Given the description of an element on the screen output the (x, y) to click on. 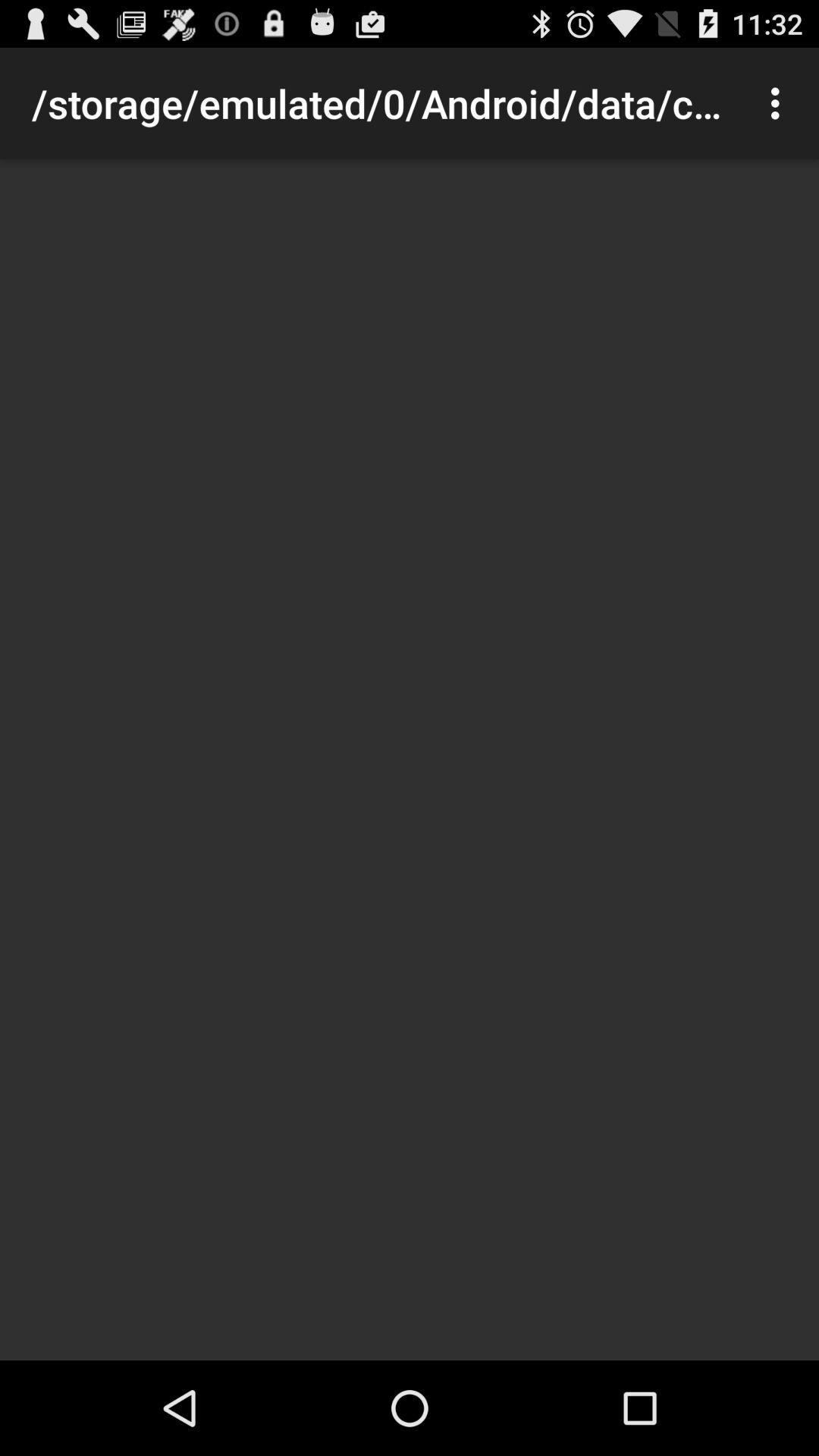
click the item at the top right corner (779, 103)
